Given the description of an element on the screen output the (x, y) to click on. 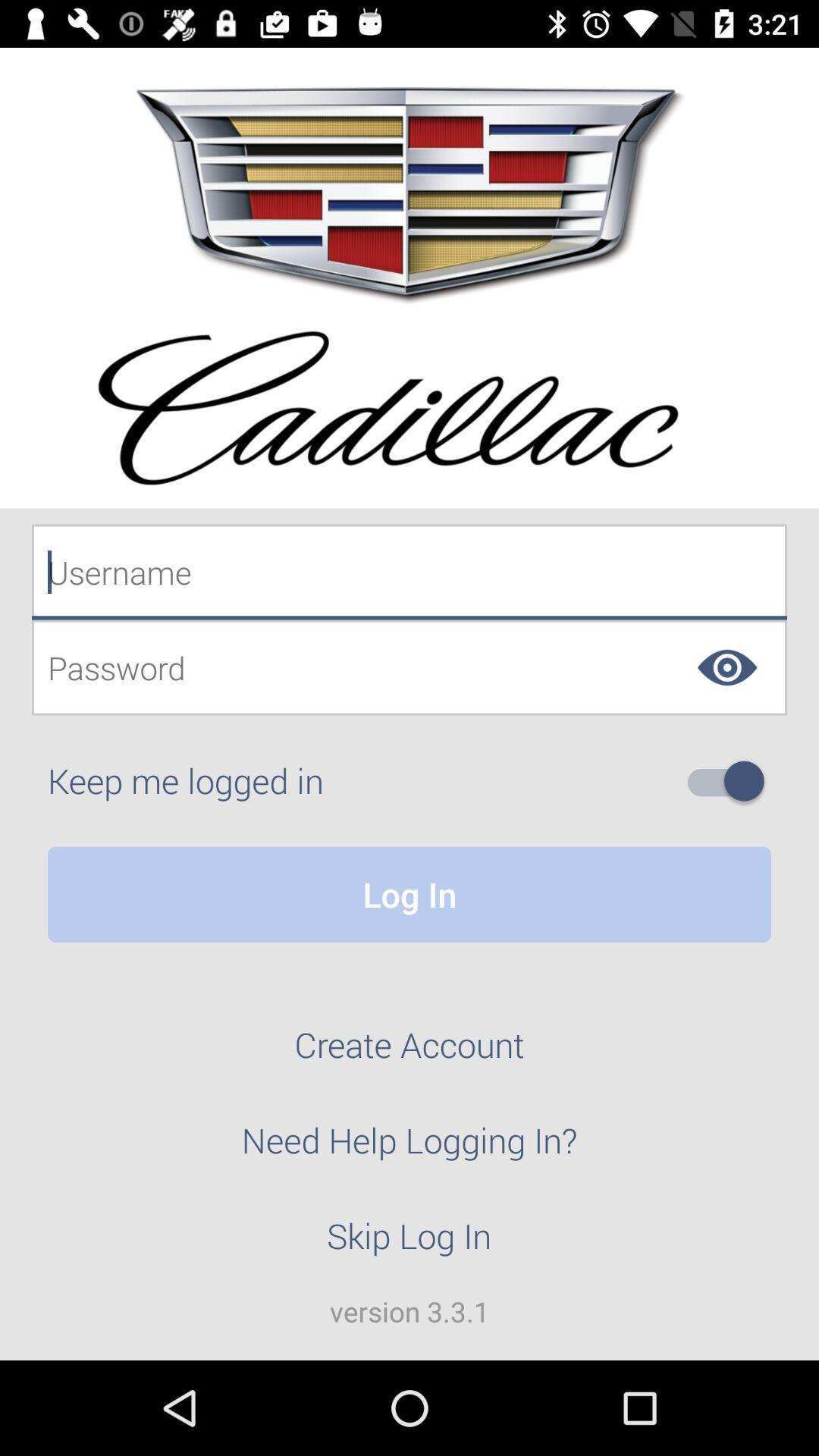
click the need help logging (409, 1149)
